Given the description of an element on the screen output the (x, y) to click on. 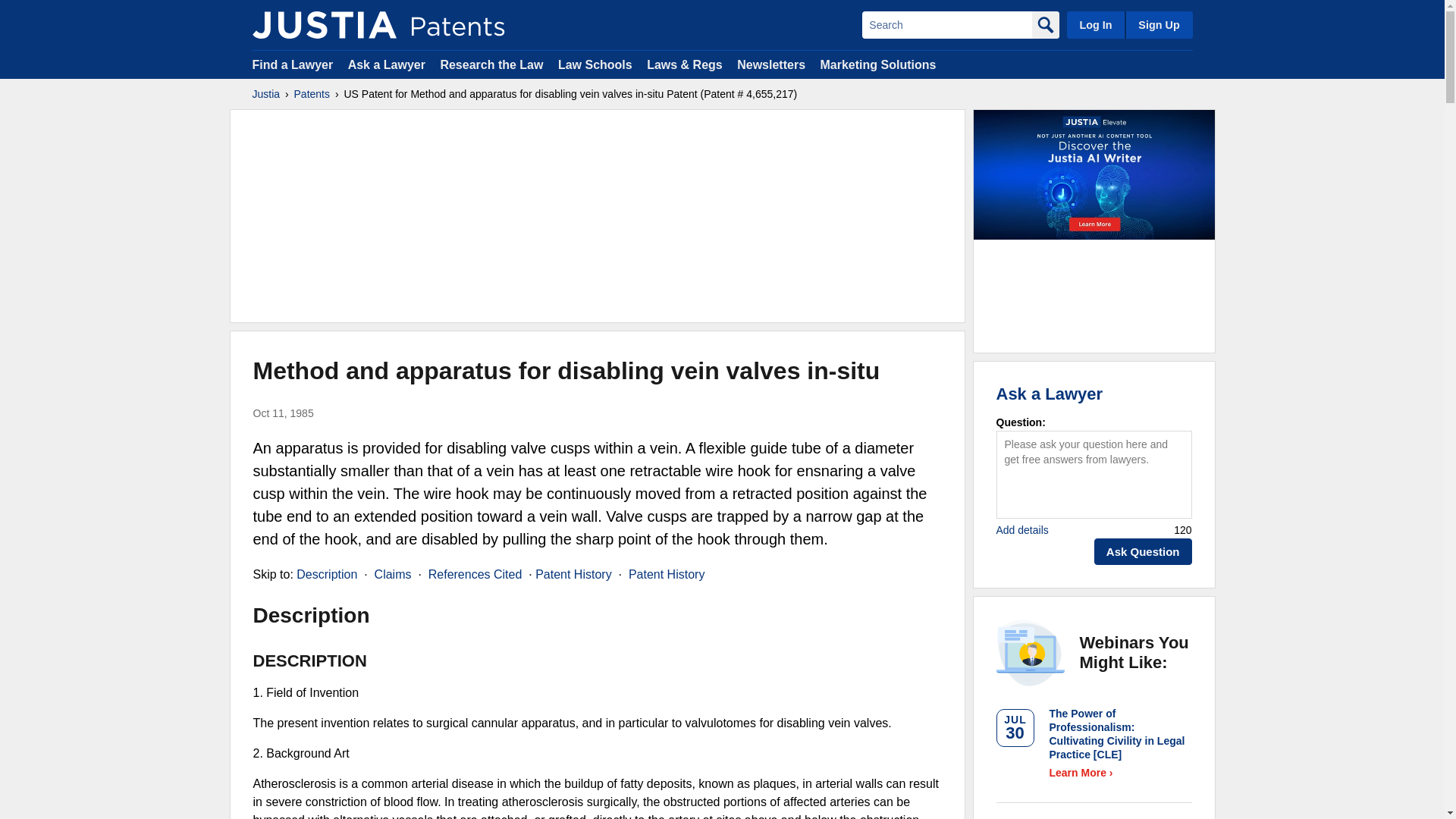
Description (326, 574)
Sign Up (1158, 24)
Find a Lawyer (292, 64)
Search (945, 24)
Patent History (666, 574)
Research the Law (491, 64)
Ask a Lawyer (386, 64)
Marketing Solutions (877, 64)
Patents (312, 93)
Newsletters (770, 64)
Justia (265, 93)
Claims (393, 574)
References Cited (475, 574)
Log In (1094, 24)
Law Schools (594, 64)
